Given the description of an element on the screen output the (x, y) to click on. 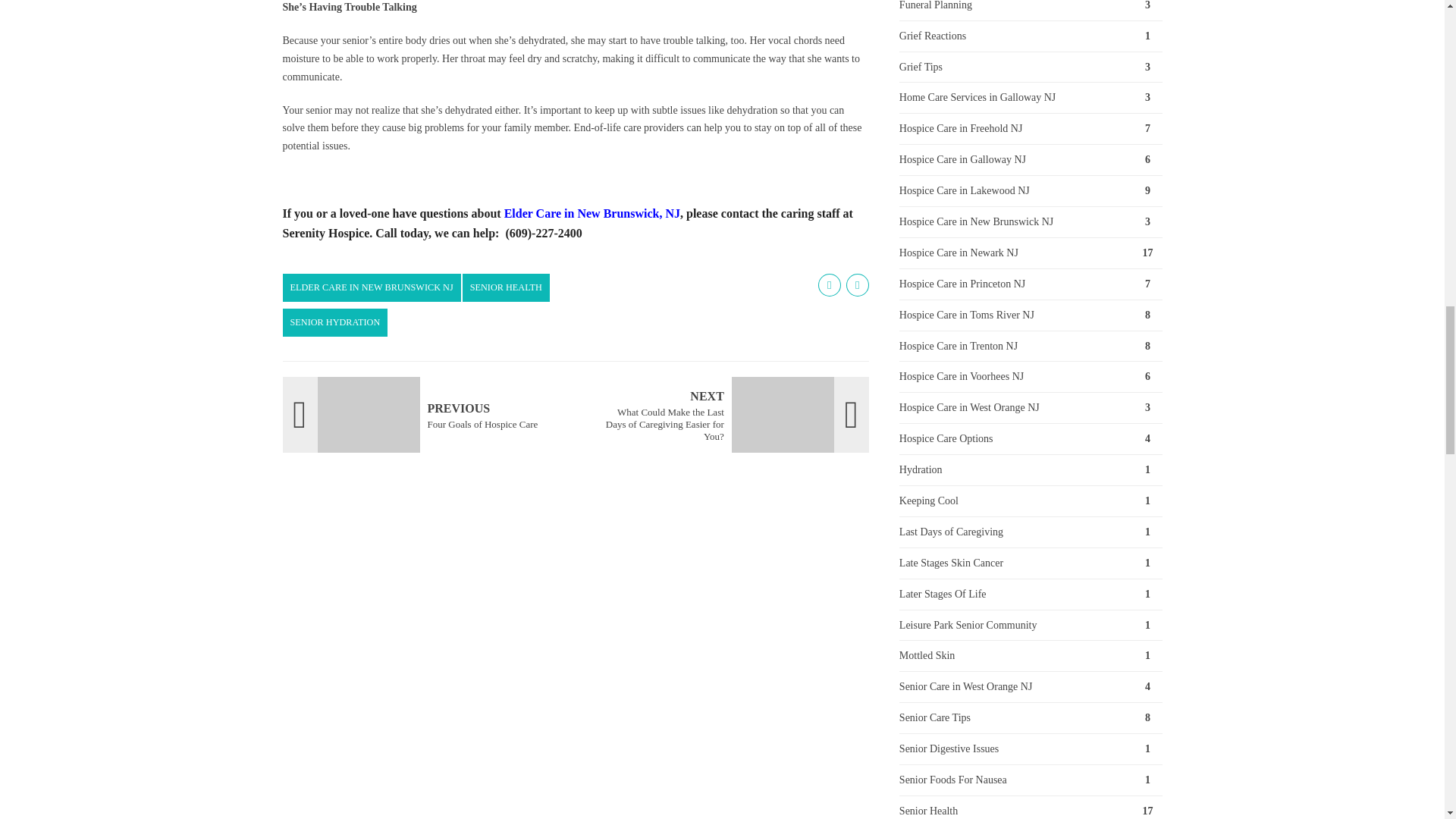
SENIOR HYDRATION (423, 414)
Elder Care in New Brunswick, NJ (334, 322)
SENIOR HEALTH (591, 213)
ELDER CARE IN NEW BRUNSWICK NJ (506, 287)
